Given the description of an element on the screen output the (x, y) to click on. 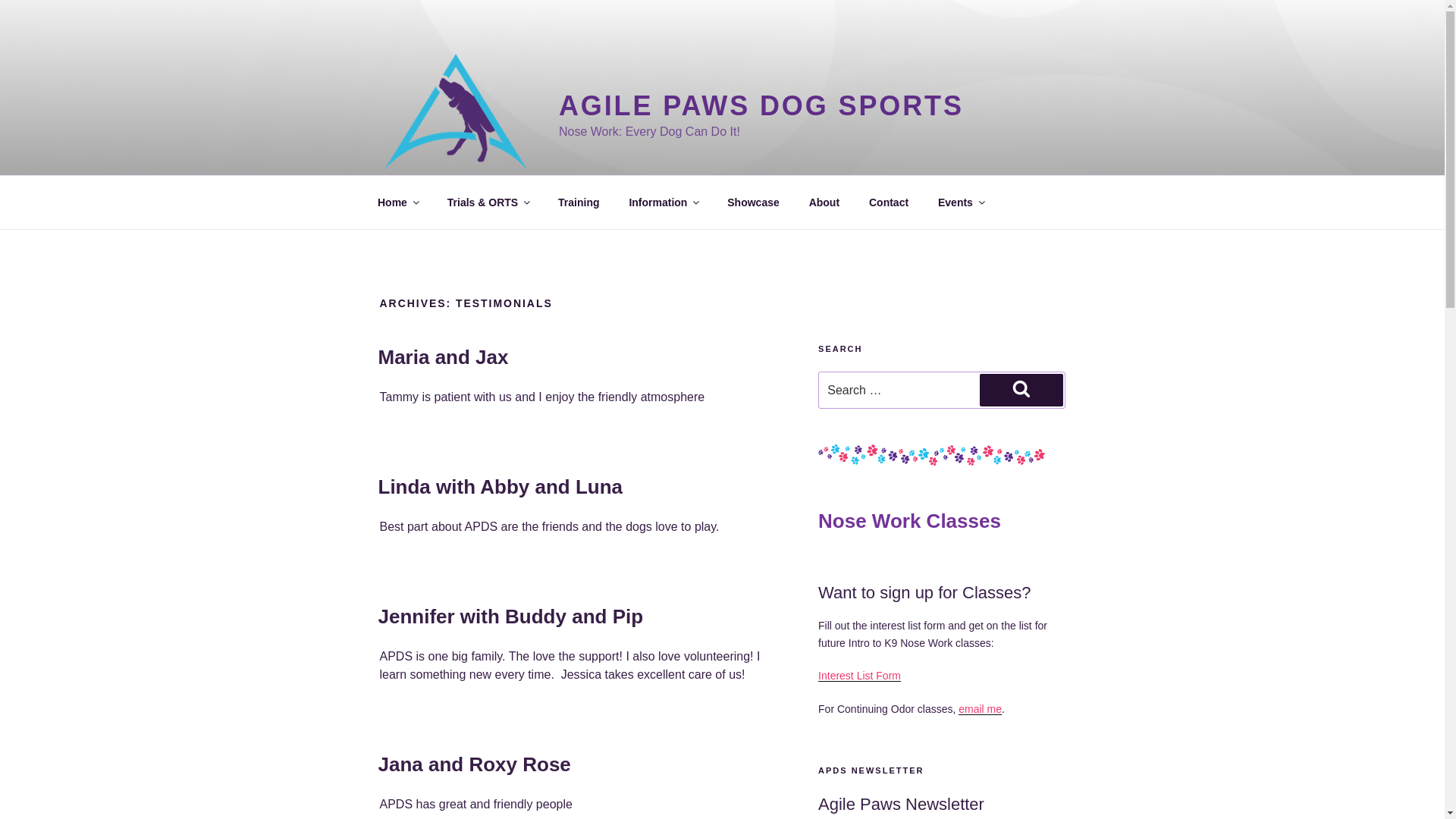
About (822, 201)
Information (663, 201)
Showcase (753, 201)
Home (397, 201)
Contact (888, 201)
Events (960, 201)
Linda with Abby and Luna (500, 486)
Jennifer with Buddy and Pip (510, 616)
Maria and Jax (442, 356)
AGILE PAWS DOG SPORTS (761, 105)
